Given the description of an element on the screen output the (x, y) to click on. 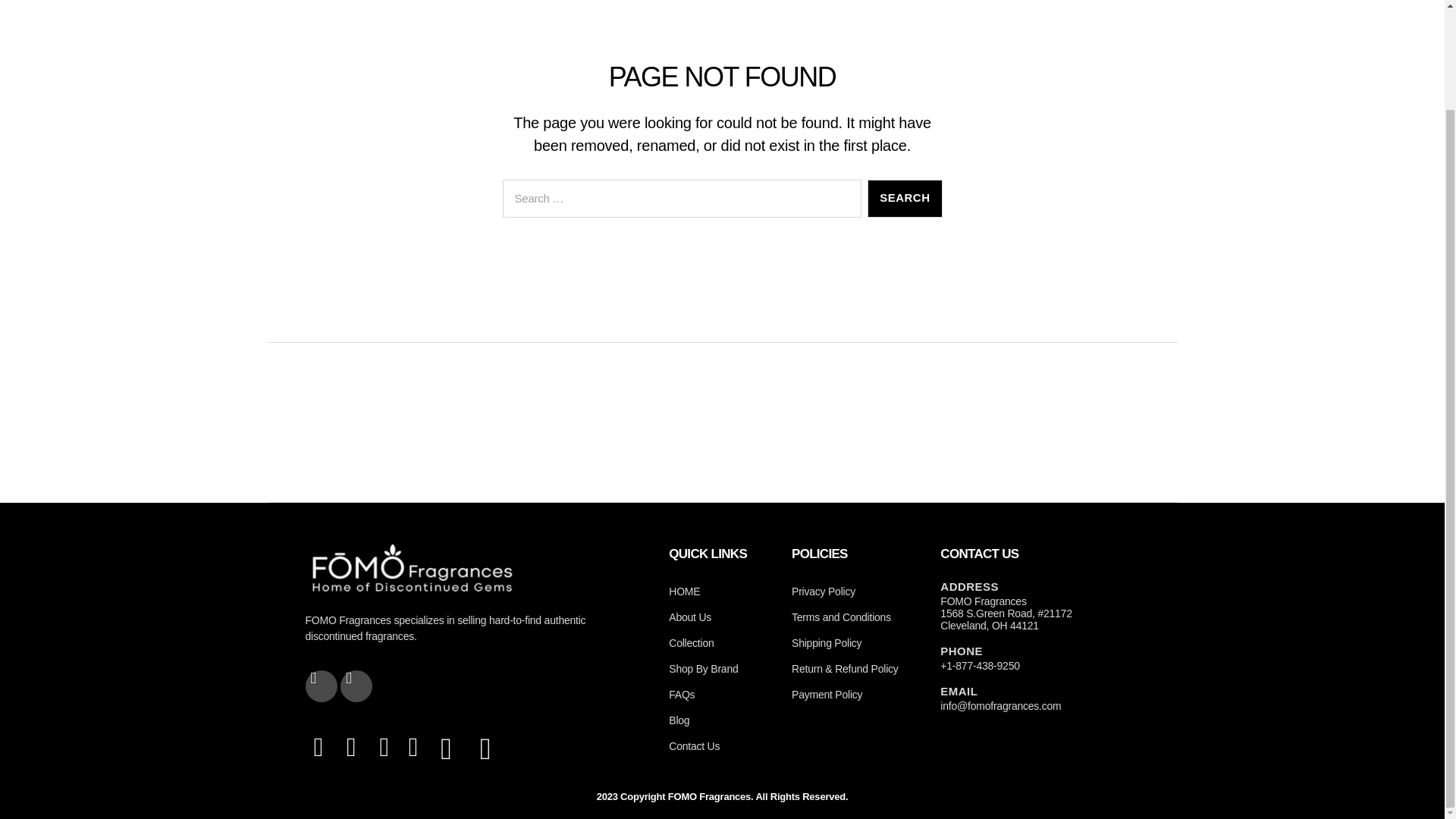
About Us (722, 616)
Search (904, 198)
Shop By Brand (722, 668)
HOME (722, 591)
Collection (722, 642)
Search (904, 198)
Search (904, 198)
